Given the description of an element on the screen output the (x, y) to click on. 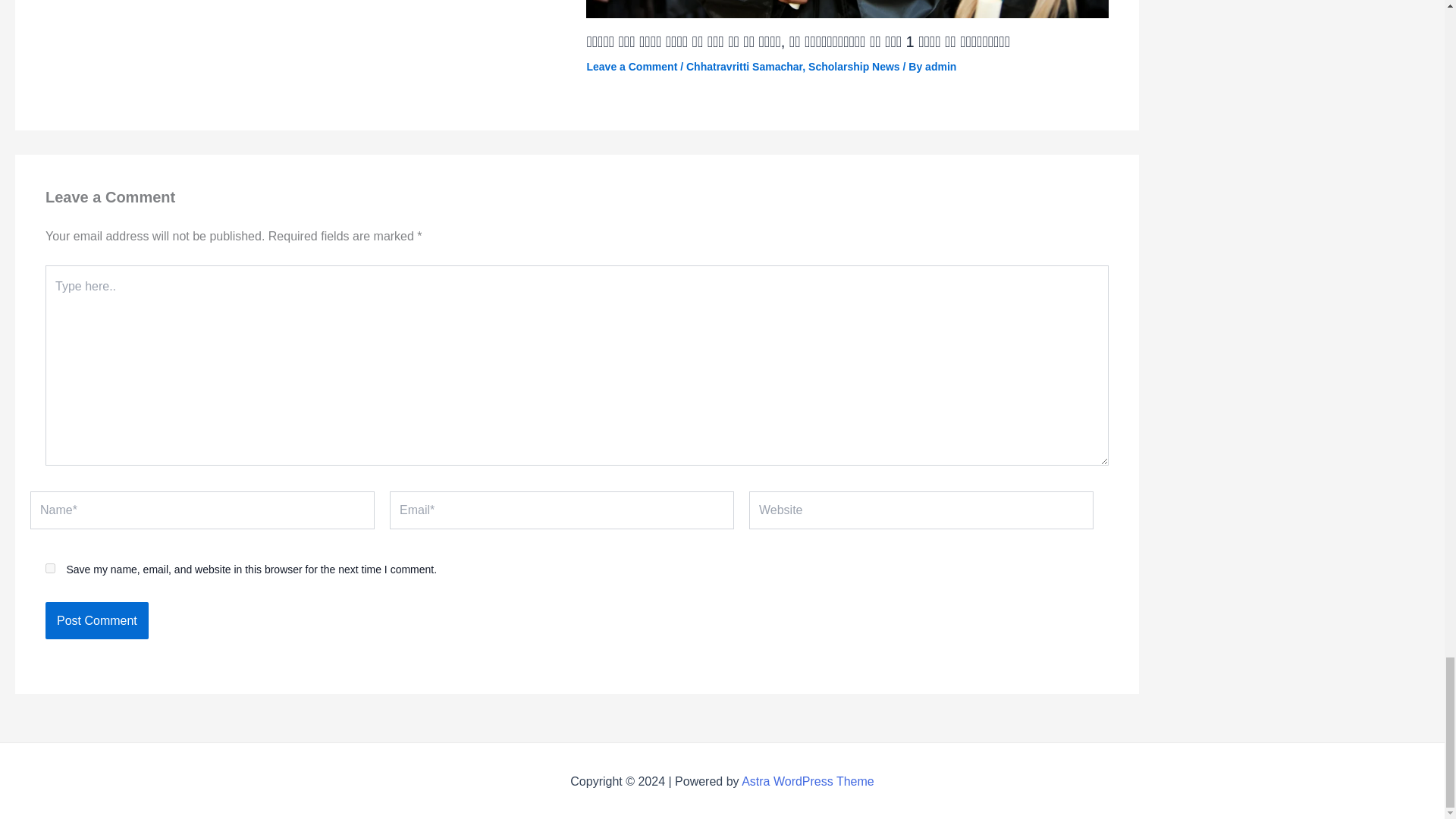
Post Comment (96, 620)
yes (50, 568)
View all posts by admin (940, 66)
